Given the description of an element on the screen output the (x, y) to click on. 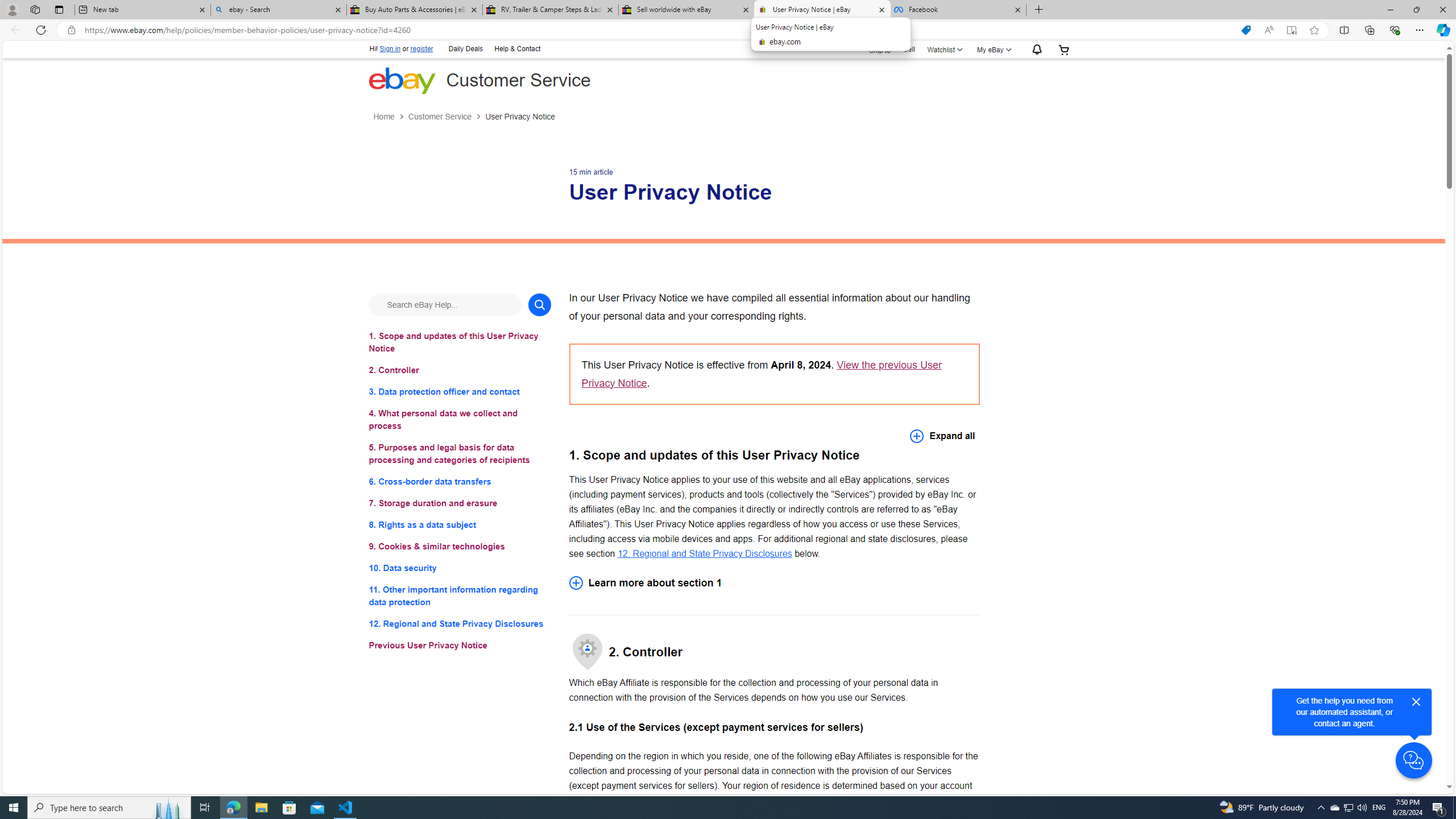
6. Cross-border data transfers (459, 481)
My eBayExpand My eBay (992, 49)
register (421, 49)
Help & Contact (516, 48)
Expand all (942, 435)
Sell worldwide with eBay (685, 9)
Home (383, 117)
Ship to (872, 48)
Enter Immersive Reader (F9) (1291, 29)
3. Data protection officer and contact (459, 391)
